Given the description of an element on the screen output the (x, y) to click on. 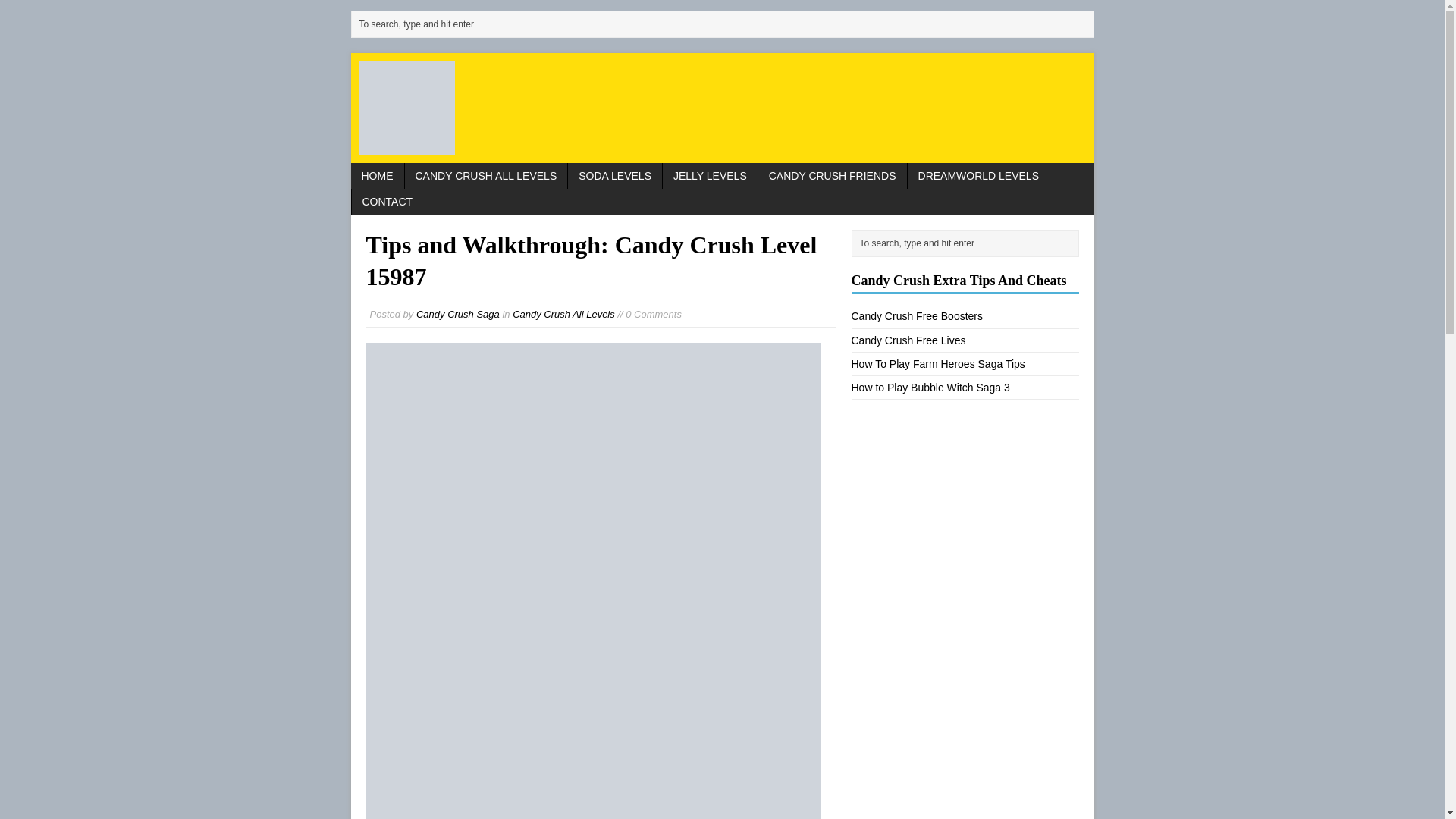
Posts by Candy Crush Saga (457, 314)
How to Play Bubble Witch Saga 3 (929, 387)
CANDY CRUSH FRIENDS (832, 175)
Candy Crush Saga (457, 314)
JELLY LEVELS (709, 175)
CONTACT (387, 201)
SODA LEVELS (614, 175)
Candy Crush Free Lives (907, 340)
How To Play Farm Heroes Saga Tips (937, 363)
Candy Crush Mom (721, 107)
Candy Crush All Levels (563, 314)
DREAMWORLD LEVELS (978, 175)
HOME (376, 175)
To search, type and hit enter (968, 243)
